Given the description of an element on the screen output the (x, y) to click on. 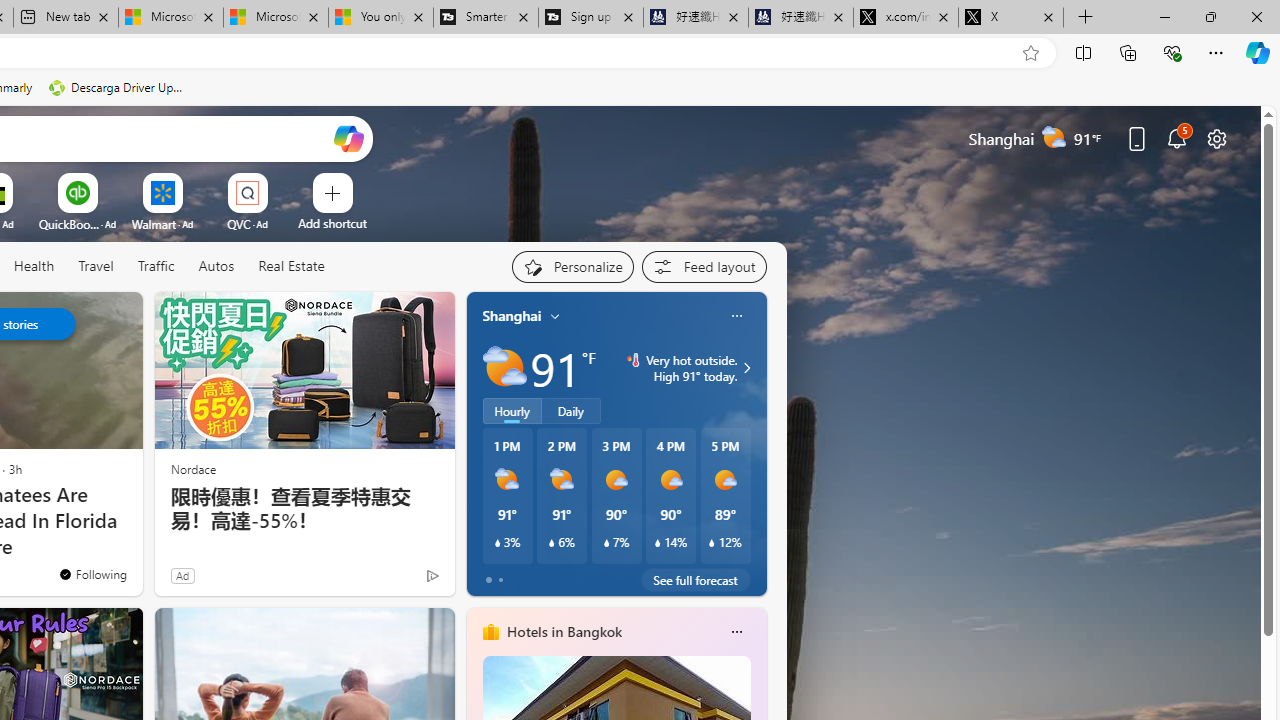
next (756, 443)
Hourly (511, 411)
Feed settings (703, 266)
Partly sunny (504, 368)
Hotels in Bangkok (563, 631)
hotels-header-icon (490, 632)
